Given the description of an element on the screen output the (x, y) to click on. 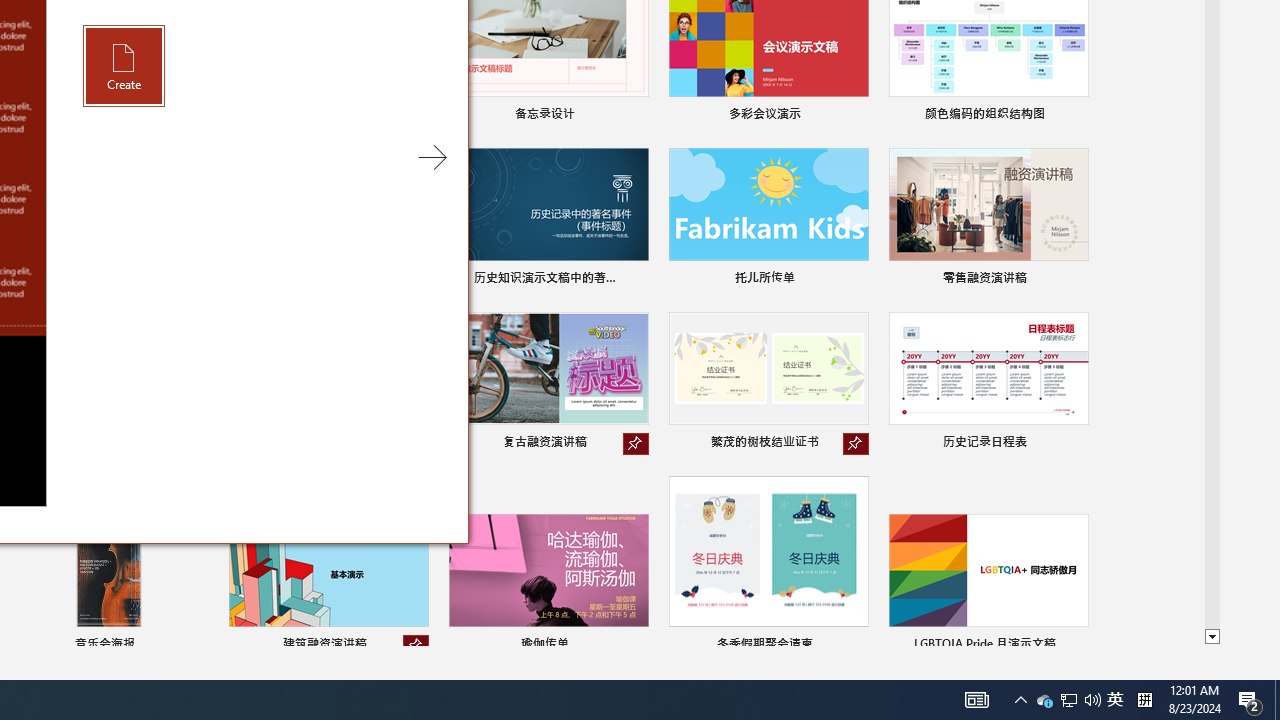
Create (124, 66)
Line down (1212, 637)
AutomationID: 4105 (1115, 699)
Q2790: 100% (976, 699)
Pin to list (1092, 699)
User Promoted Notification Area (1075, 645)
Action Center, 2 new notifications (1068, 699)
Unpin from list (1250, 699)
Next Template (415, 645)
Show desktop (1044, 699)
